Given the description of an element on the screen output the (x, y) to click on. 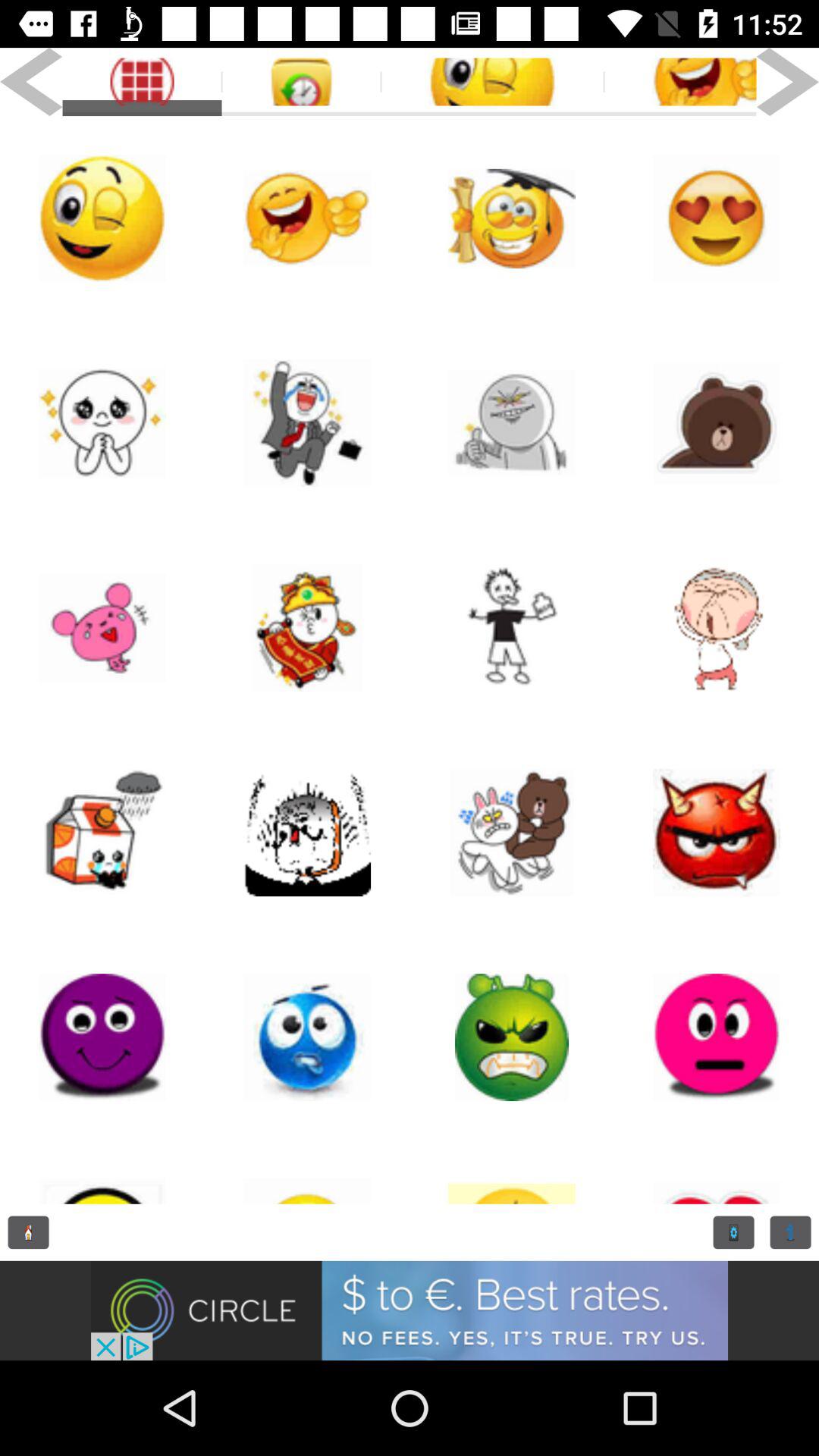
select emoji (716, 422)
